Given the description of an element on the screen output the (x, y) to click on. 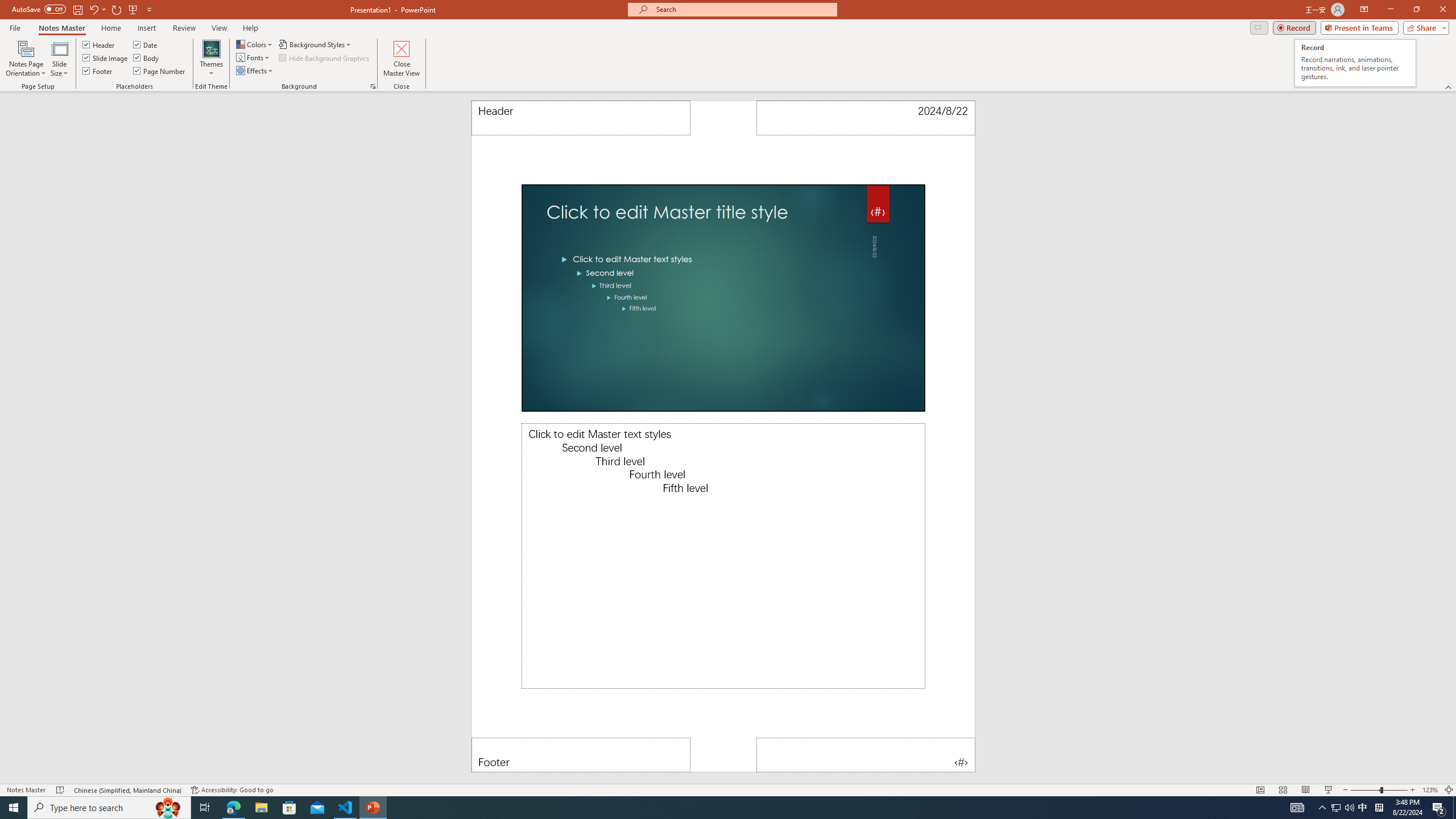
Page Number (866, 754)
Format Background... (372, 85)
